Given the description of an element on the screen output the (x, y) to click on. 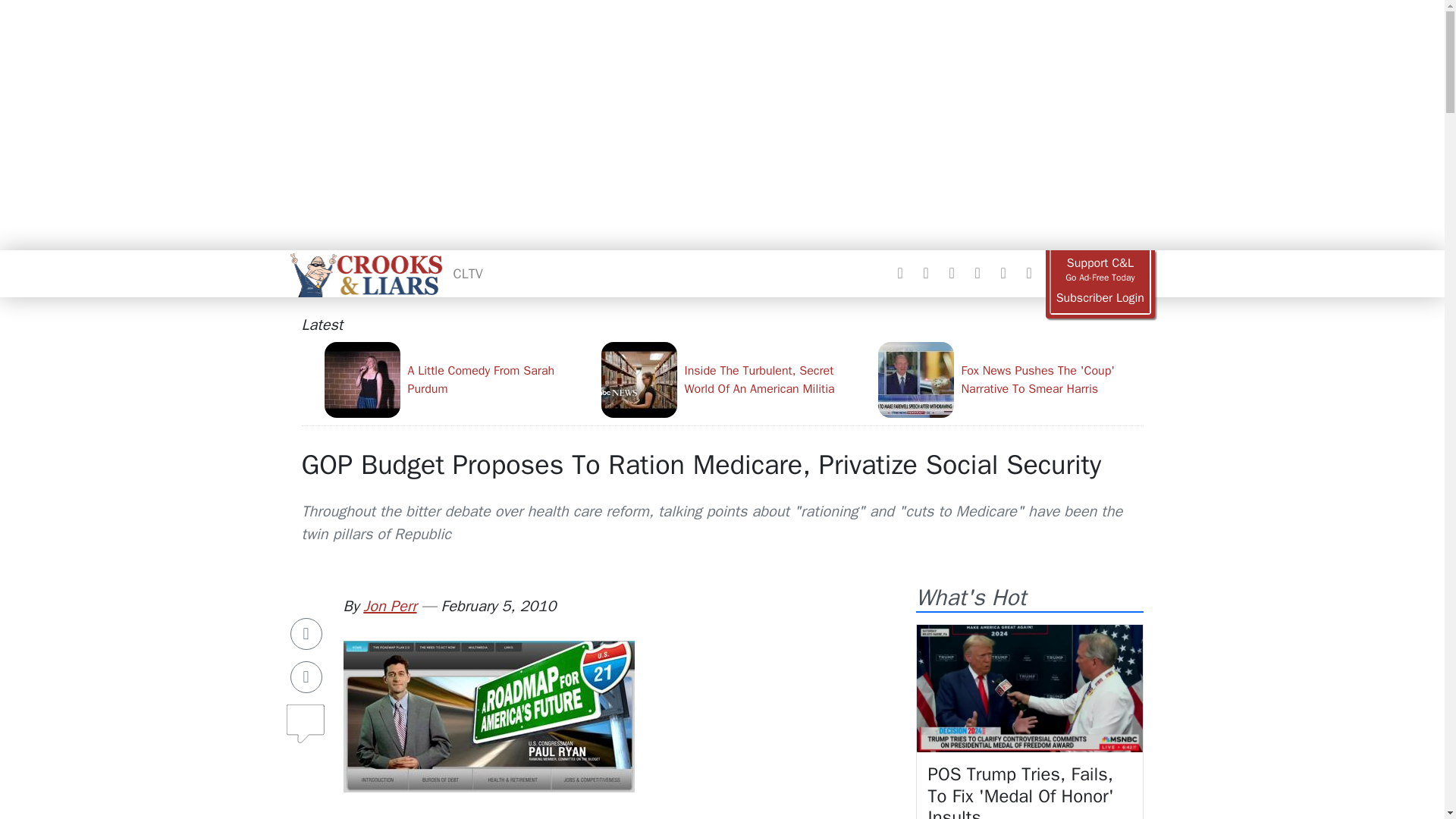
Comments (306, 717)
Fox News Pushes The 'Coup' Narrative To Smear Harris (1009, 379)
Inside The Turbulent, Secret World Of An American Militia (732, 379)
Fox News Pushes The 'Coup' Narrative To Smear Harris (1009, 379)
Inside The Turbulent, Secret World Of An American Militia (732, 379)
CLTV (467, 273)
A Little Comedy From Sarah Purdum (456, 379)
Go ad free today! (1099, 270)
Login to your ad free account (1099, 298)
Share on Twitter (306, 676)
